Given the description of an element on the screen output the (x, y) to click on. 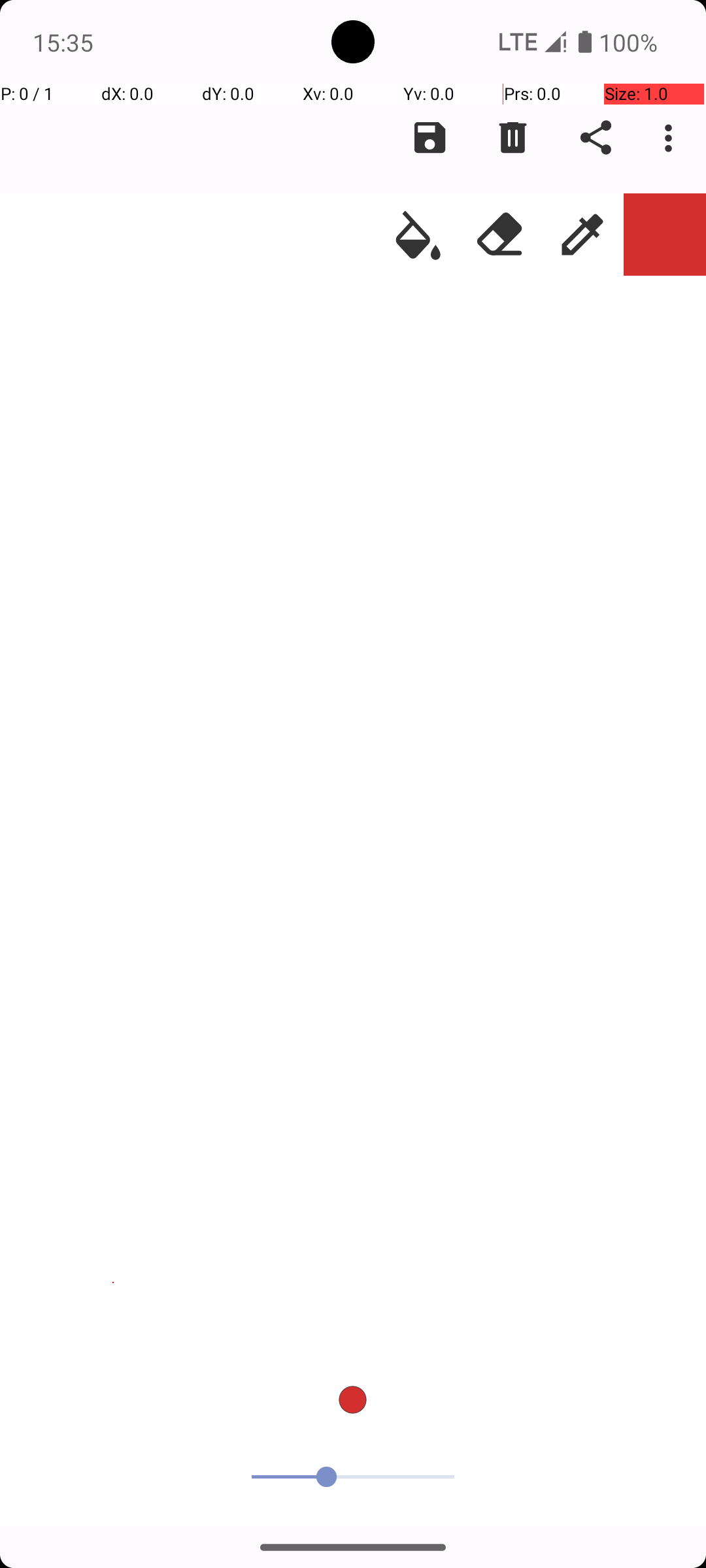
Bucket fill Element type: android.widget.ImageView (417, 234)
Eraser Element type: android.widget.ImageView (499, 234)
Eyedropper Element type: android.widget.ImageView (582, 234)
Change color Element type: android.widget.ImageView (664, 234)
